Given the description of an element on the screen output the (x, y) to click on. 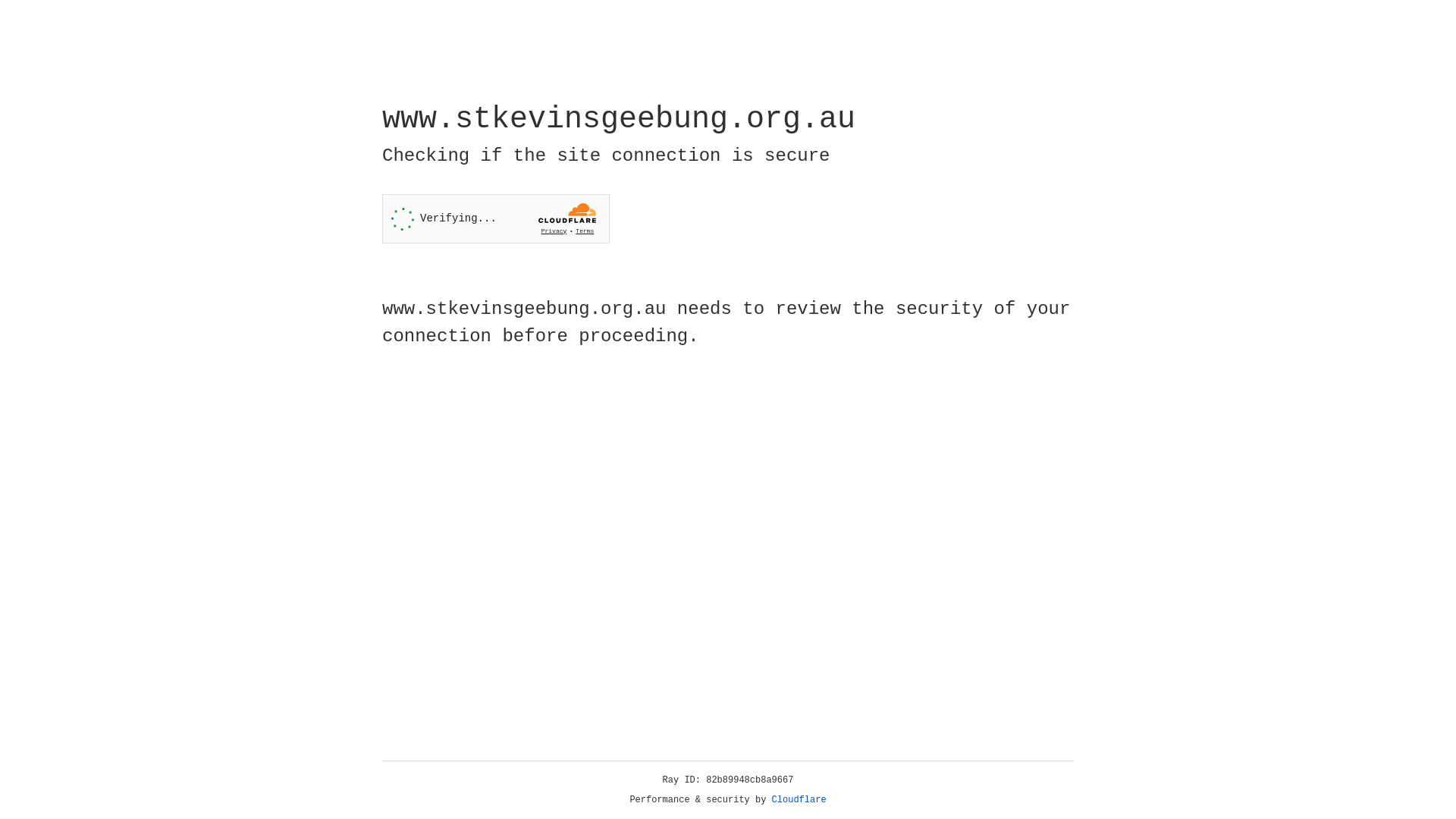
Widget containing a Cloudflare security challenge Element type: hover (495, 218)
Cloudflare Element type: text (798, 799)
